Given the description of an element on the screen output the (x, y) to click on. 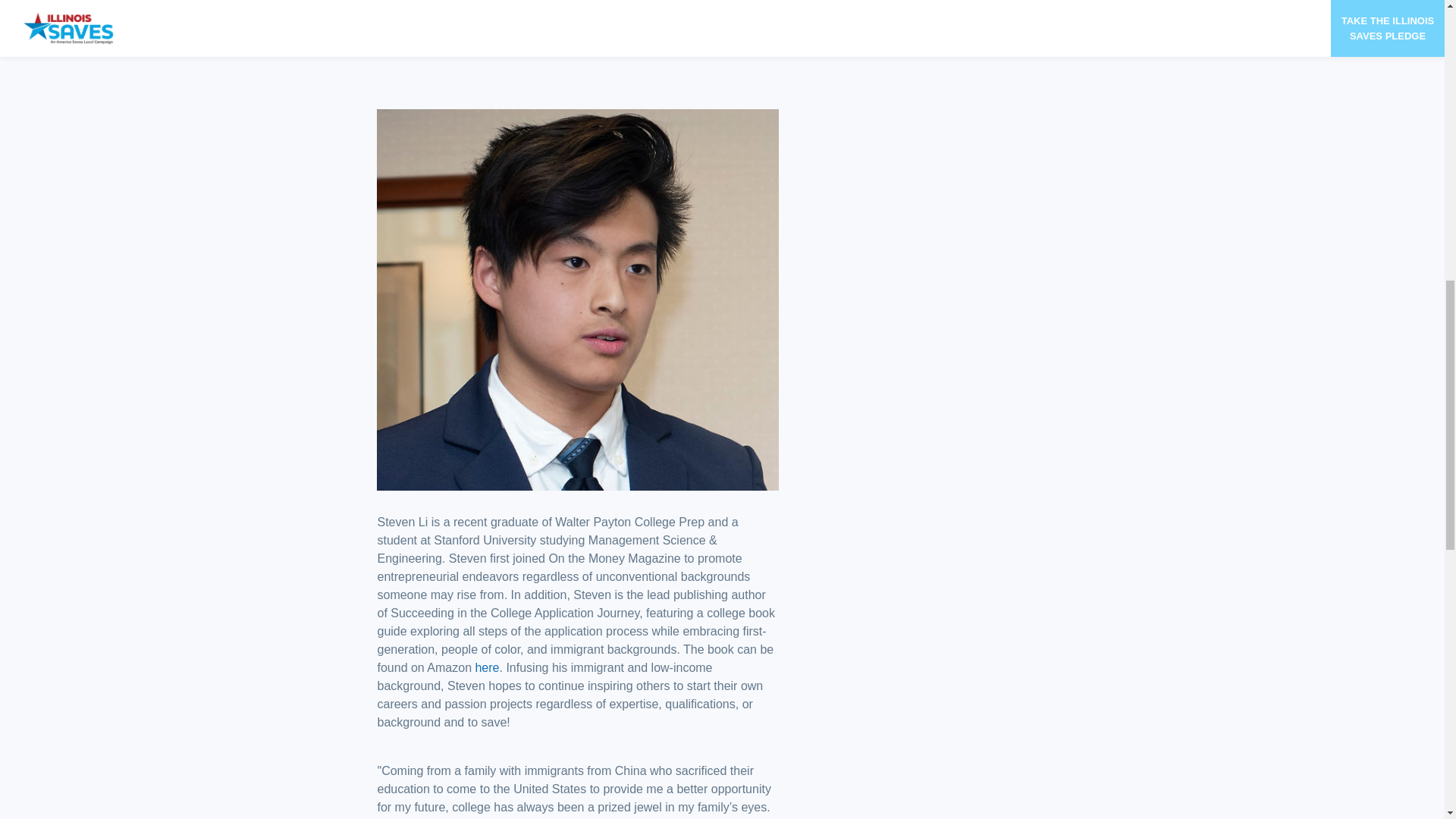
here (486, 667)
